Given the description of an element on the screen output the (x, y) to click on. 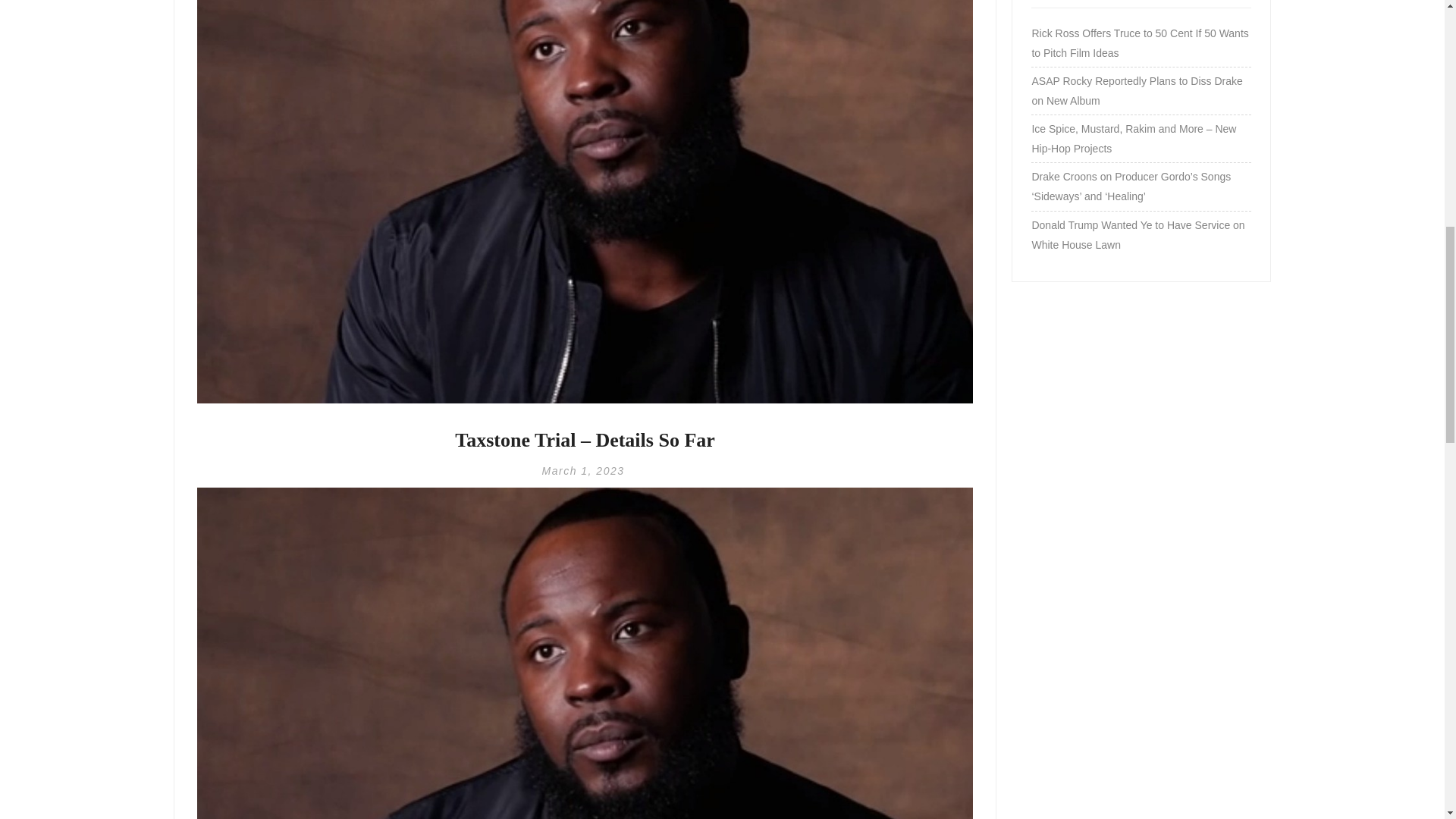
ASAP Rocky Reportedly Plans to Diss Drake on New Album (1140, 90)
March 1, 2023 (582, 470)
